Given the description of an element on the screen output the (x, y) to click on. 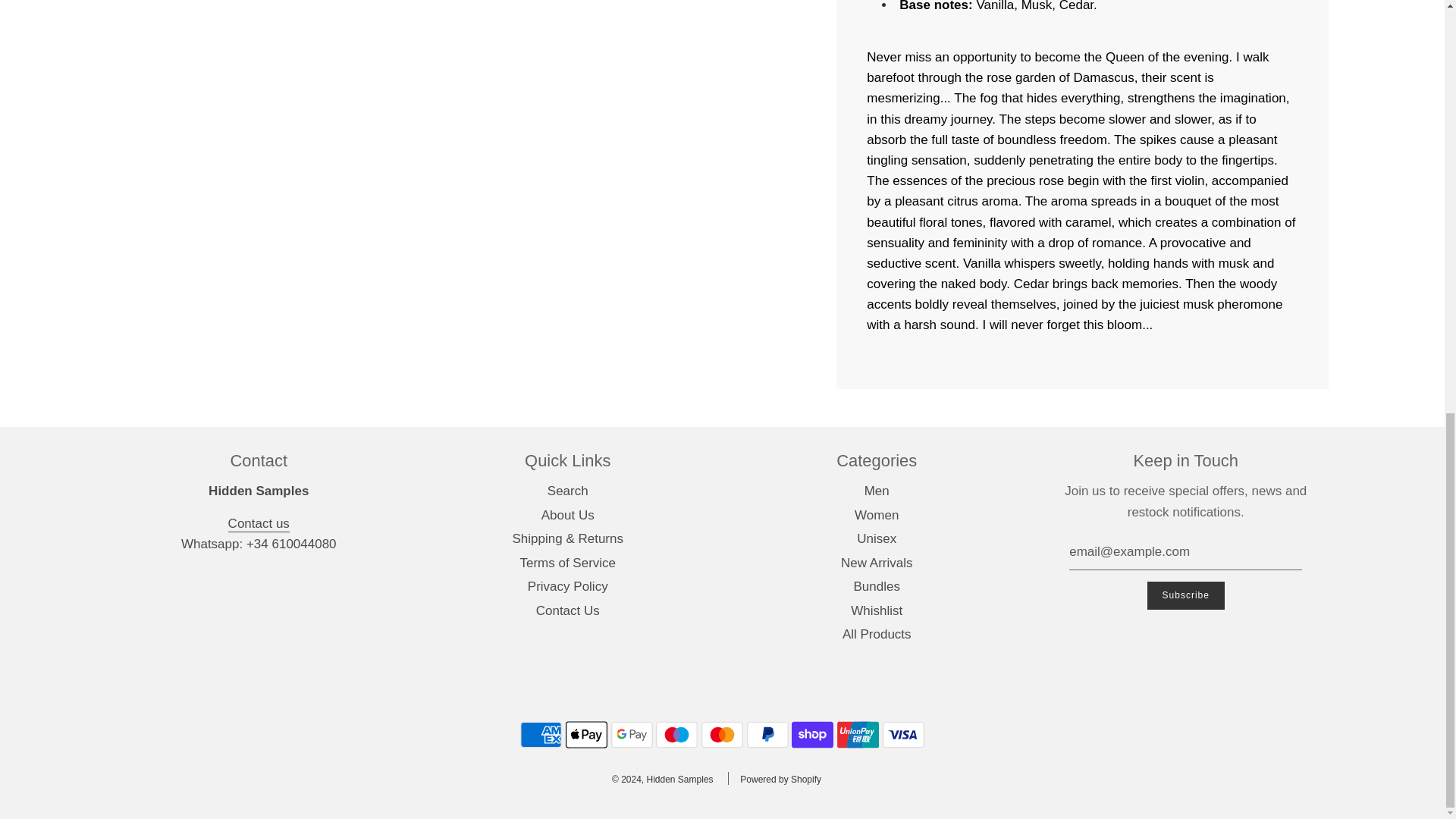
American Express (540, 734)
PayPal (767, 734)
Google Pay (631, 734)
Subscribe (1185, 595)
Union Pay (858, 734)
Contact us (258, 524)
Visa (903, 734)
Maestro (676, 734)
Apple Pay (586, 734)
Shop Pay (812, 734)
Mastercard (721, 734)
